Given the description of an element on the screen output the (x, y) to click on. 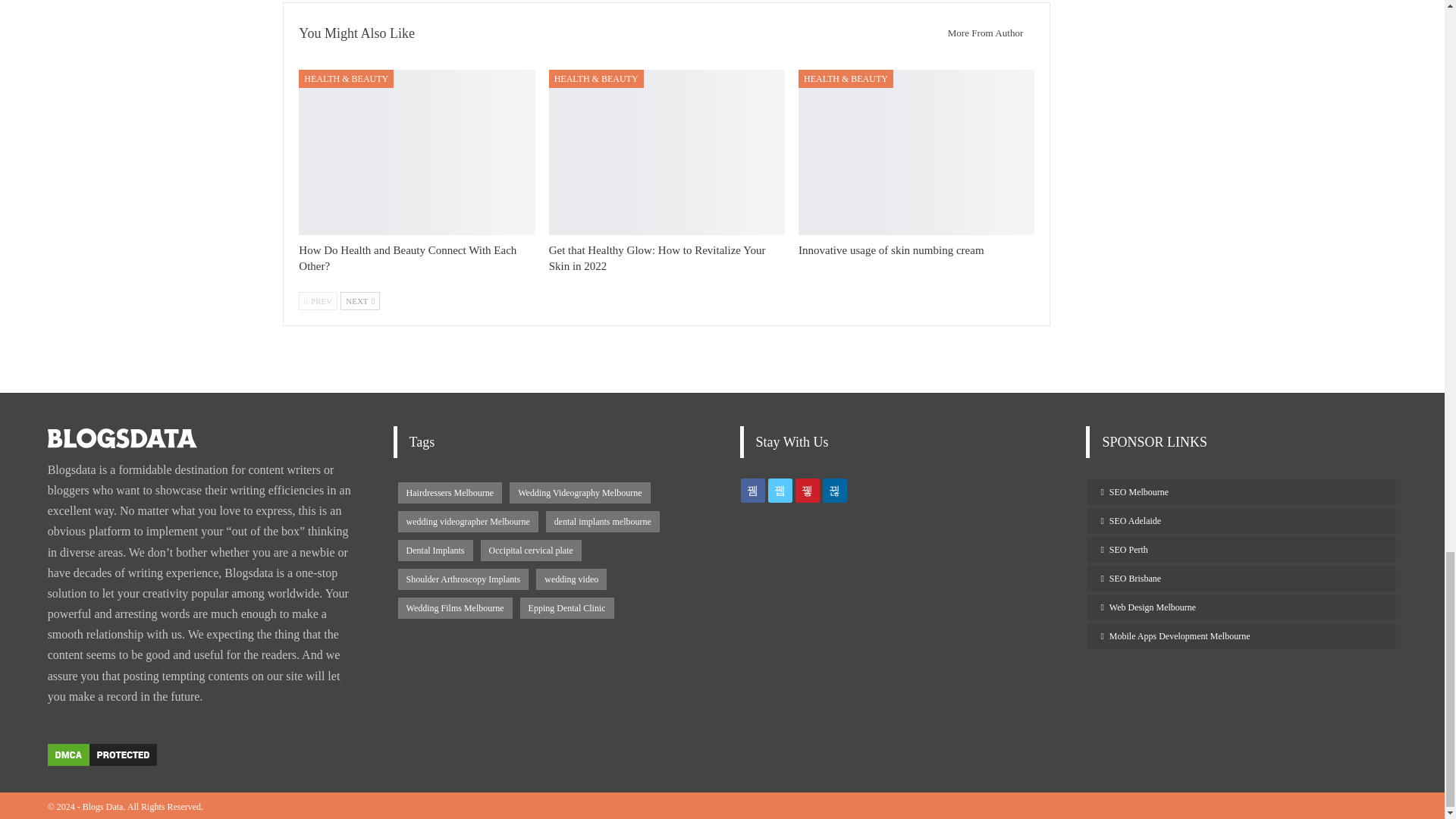
How Do Health and Beauty Connect With Each Other? (416, 152)
You Might Also Like (356, 33)
More From Author (981, 33)
How Do Health and Beauty Connect With Each Other? (407, 257)
